Given the description of an element on the screen output the (x, y) to click on. 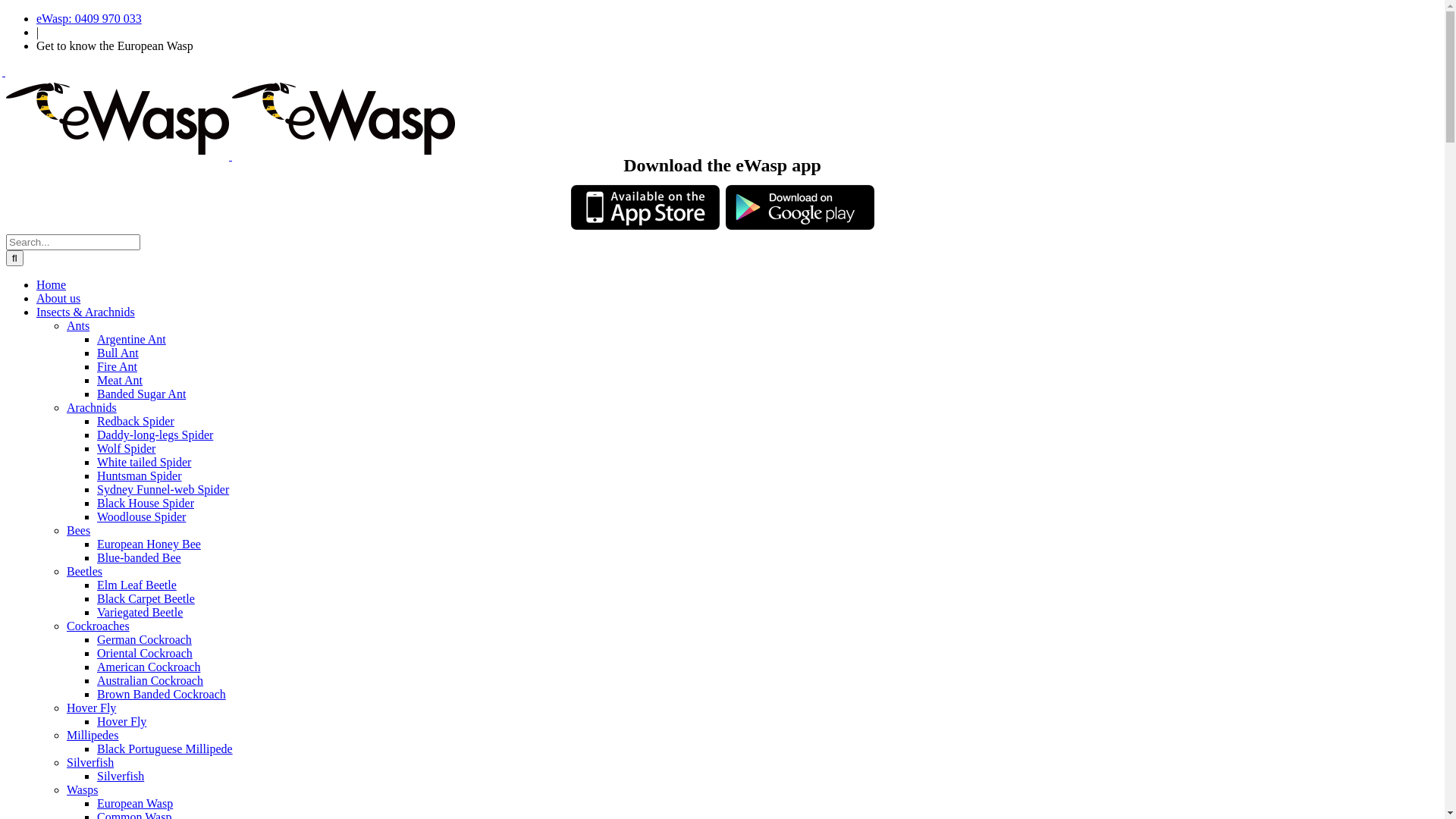
Redback Spider Element type: text (135, 420)
| Element type: text (37, 31)
About us Element type: text (58, 297)
Beetles Element type: text (84, 570)
Twitter Element type: text (11, 71)
Argentine Ant Element type: text (131, 338)
Arachnids Element type: text (91, 407)
Wasps Element type: text (81, 789)
Hover Fly Element type: text (91, 707)
Blue-banded Bee Element type: text (139, 557)
Home Element type: text (50, 284)
eWasp: 0409 970 033 Element type: text (88, 18)
Australian Cockroach Element type: text (150, 680)
Insects & Arachnids Element type: text (85, 311)
Silverfish Element type: text (89, 762)
Brown Banded Cockroach Element type: text (161, 693)
Ants Element type: text (77, 325)
Skip to content Element type: text (5, 11)
Huntsman Spider Element type: text (139, 475)
Sydney Funnel-web Spider Element type: text (163, 489)
Cockroaches Element type: text (97, 625)
Bees Element type: text (78, 530)
Oriental Cockroach Element type: text (144, 652)
Silverfish Element type: text (120, 775)
Meat Ant Element type: text (119, 379)
Black Portuguese Millipede Element type: text (164, 748)
Millipedes Element type: text (92, 734)
Elm Leaf Beetle Element type: text (136, 584)
American Cockroach Element type: text (148, 666)
European Honey Bee Element type: text (148, 543)
Hover Fly Element type: text (121, 721)
Banded Sugar Ant Element type: text (141, 393)
German Cockroach Element type: text (144, 639)
Wolf Spider Element type: text (126, 448)
White tailed Spider Element type: text (144, 461)
Get to know the European Wasp Element type: text (114, 45)
Black House Spider Element type: text (145, 502)
Black Carpet Beetle Element type: text (145, 598)
Bull Ant Element type: text (117, 352)
Daddy-long-legs Spider Element type: text (155, 434)
Fire Ant Element type: text (117, 366)
Woodlouse Spider Element type: text (141, 516)
European Wasp Element type: text (134, 803)
Variegated Beetle Element type: text (139, 611)
